Given the description of an element on the screen output the (x, y) to click on. 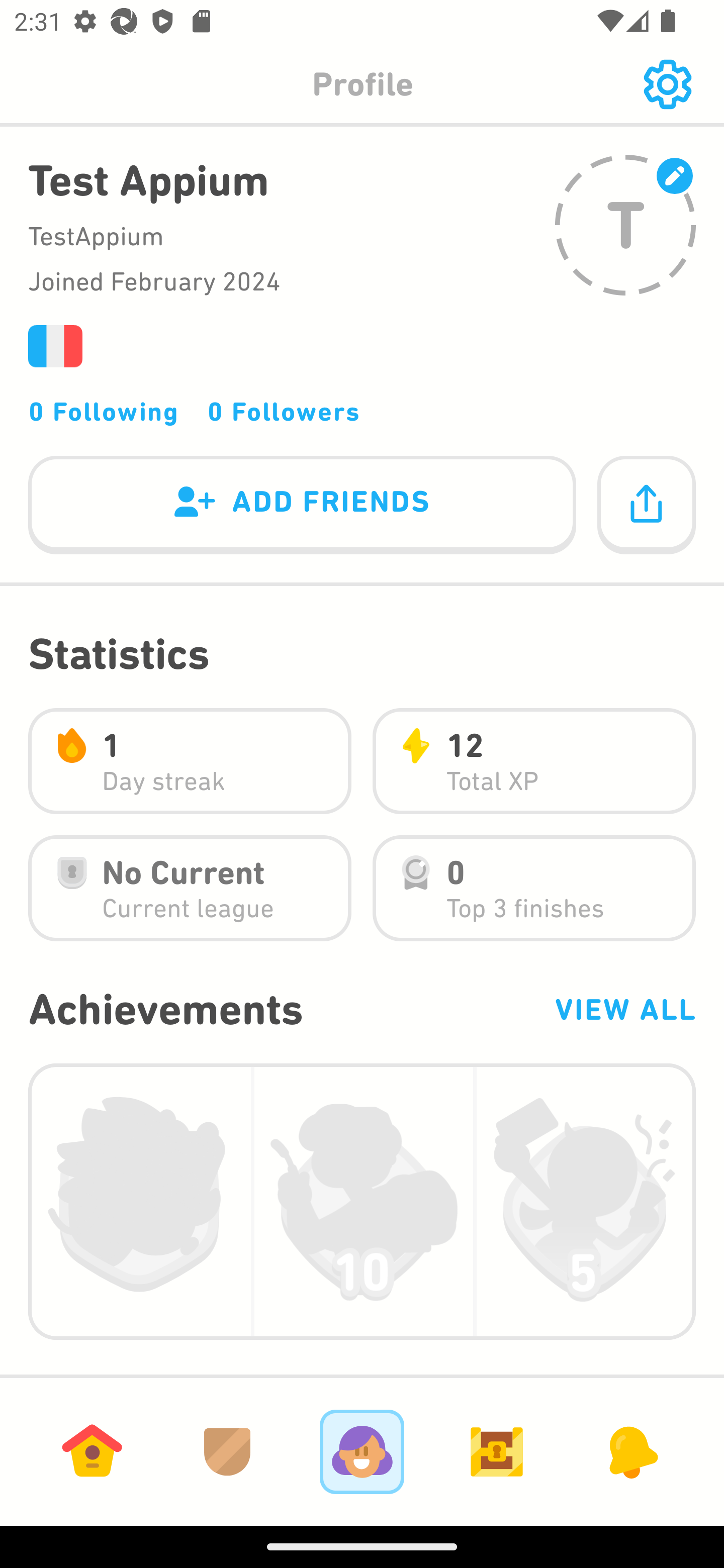
Settings (667, 84)
0 Following (103, 411)
0 Followers (283, 411)
ADD FRIENDS (302, 505)
1 Day streak (189, 760)
VIEW ALL (624, 1009)
Learn Tab (91, 1451)
Leagues Tab (227, 1451)
Profile Tab (361, 1451)
Goals Tab (496, 1451)
News Tab (631, 1451)
